Given the description of an element on the screen output the (x, y) to click on. 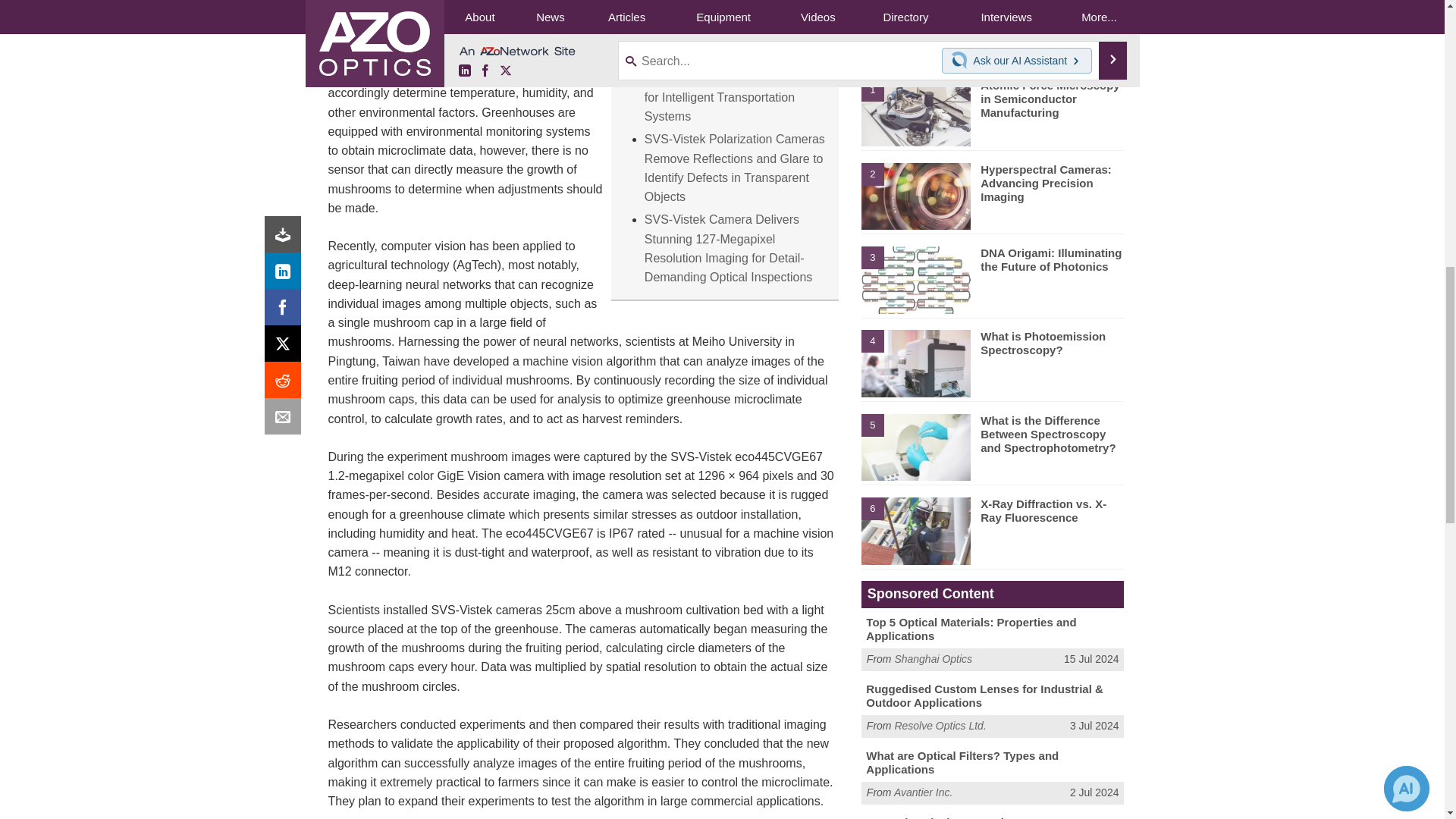
3rd party ad content (992, 9)
